Given the description of an element on the screen output the (x, y) to click on. 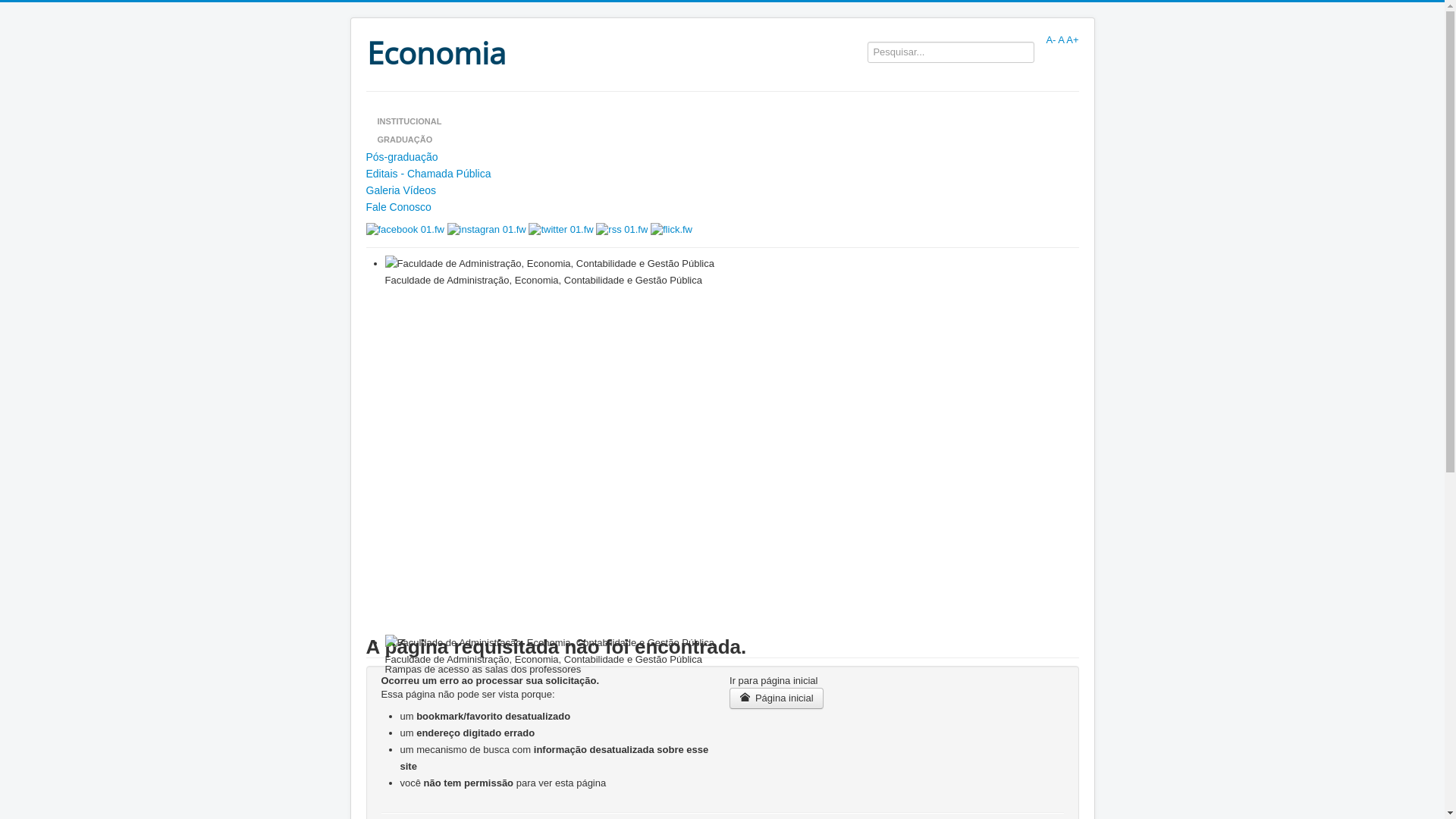
A+ Element type: text (1072, 39)
Fale Conosco Element type: text (721, 206)
A Element type: text (1060, 39)
Economia Element type: text (440, 52)
A- Element type: text (1050, 39)
